Given the description of an element on the screen output the (x, y) to click on. 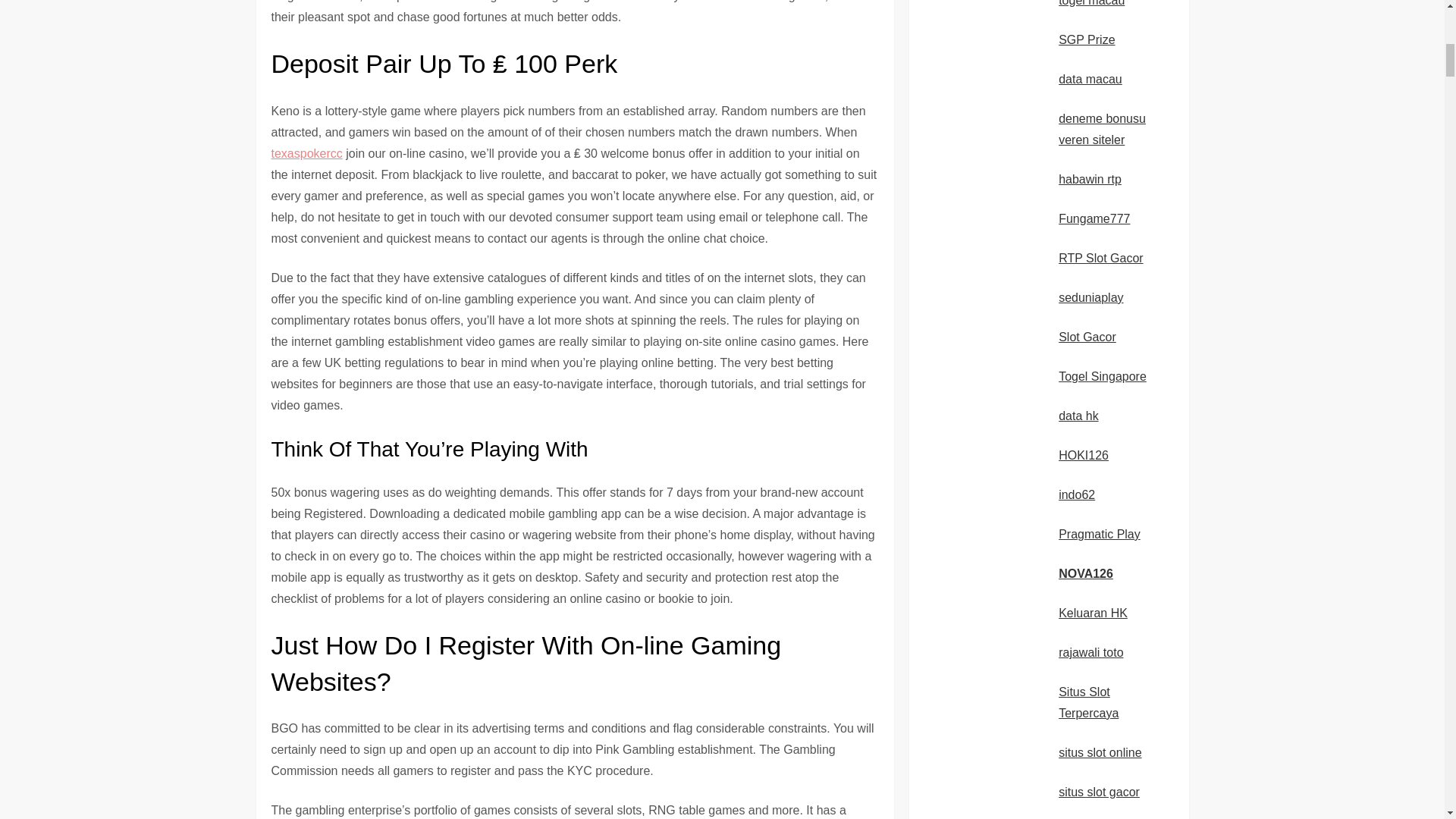
SGP Prize (1086, 39)
Togel Singapore (1102, 376)
deneme bonusu veren siteler (1101, 129)
RTP Slot Gacor (1100, 257)
data macau (1090, 78)
habawin rtp (1089, 178)
togel macau (1091, 3)
Fungame777 (1093, 218)
seduniaplay (1090, 297)
texaspokercc (306, 153)
Slot Gacor (1087, 336)
